Given the description of an element on the screen output the (x, y) to click on. 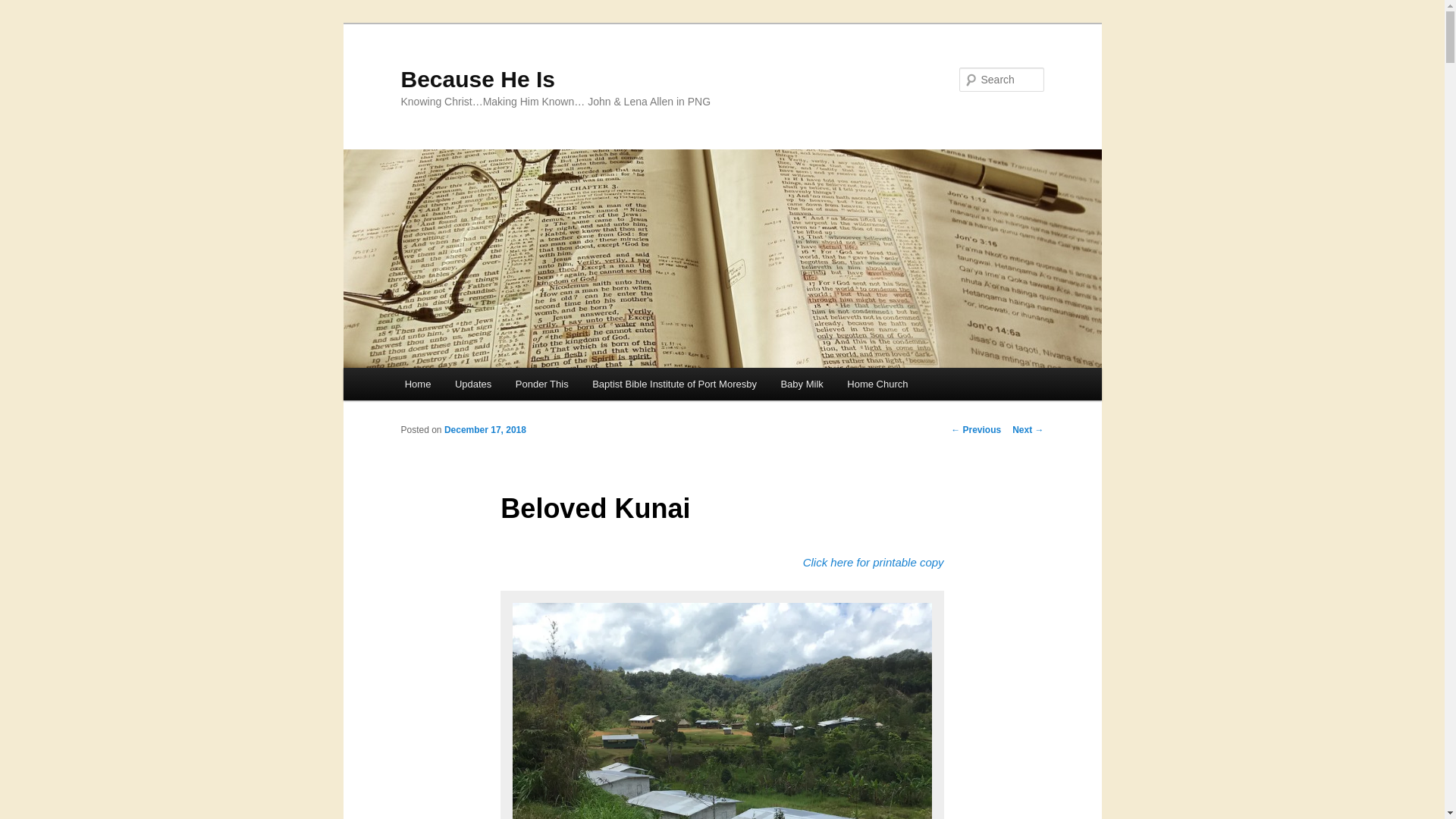
Ponder This (541, 383)
Home (417, 383)
Home Church (877, 383)
December 17, 2018 (484, 429)
Baptist Bible Institute of Port Moresby (673, 383)
Search (24, 8)
Click here for printable copy (873, 562)
Because He Is (477, 78)
Updates (472, 383)
4:48 pm (484, 429)
Baby Milk (801, 383)
